Given the description of an element on the screen output the (x, y) to click on. 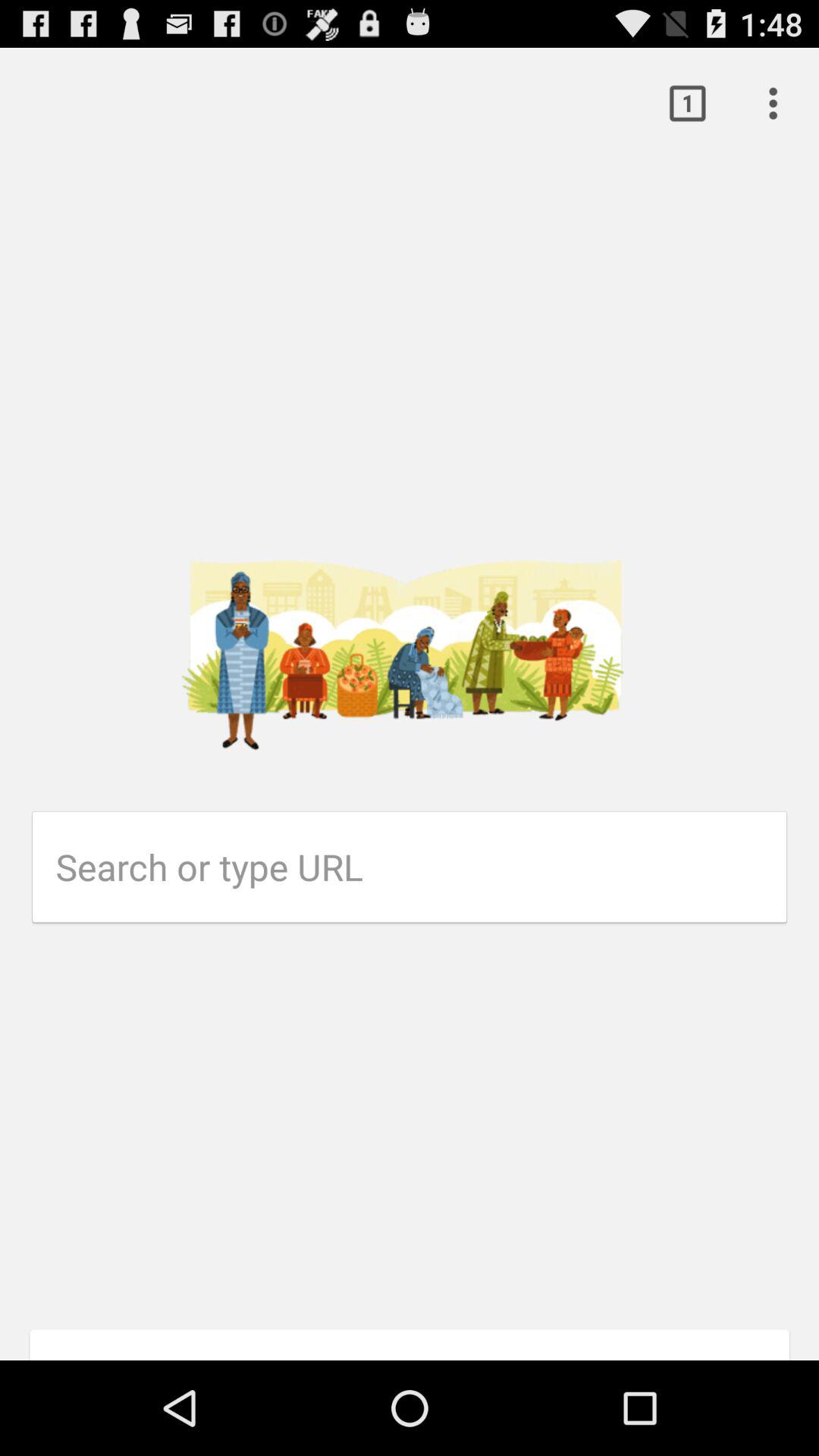
enter search criteria (421, 866)
